Given the description of an element on the screen output the (x, y) to click on. 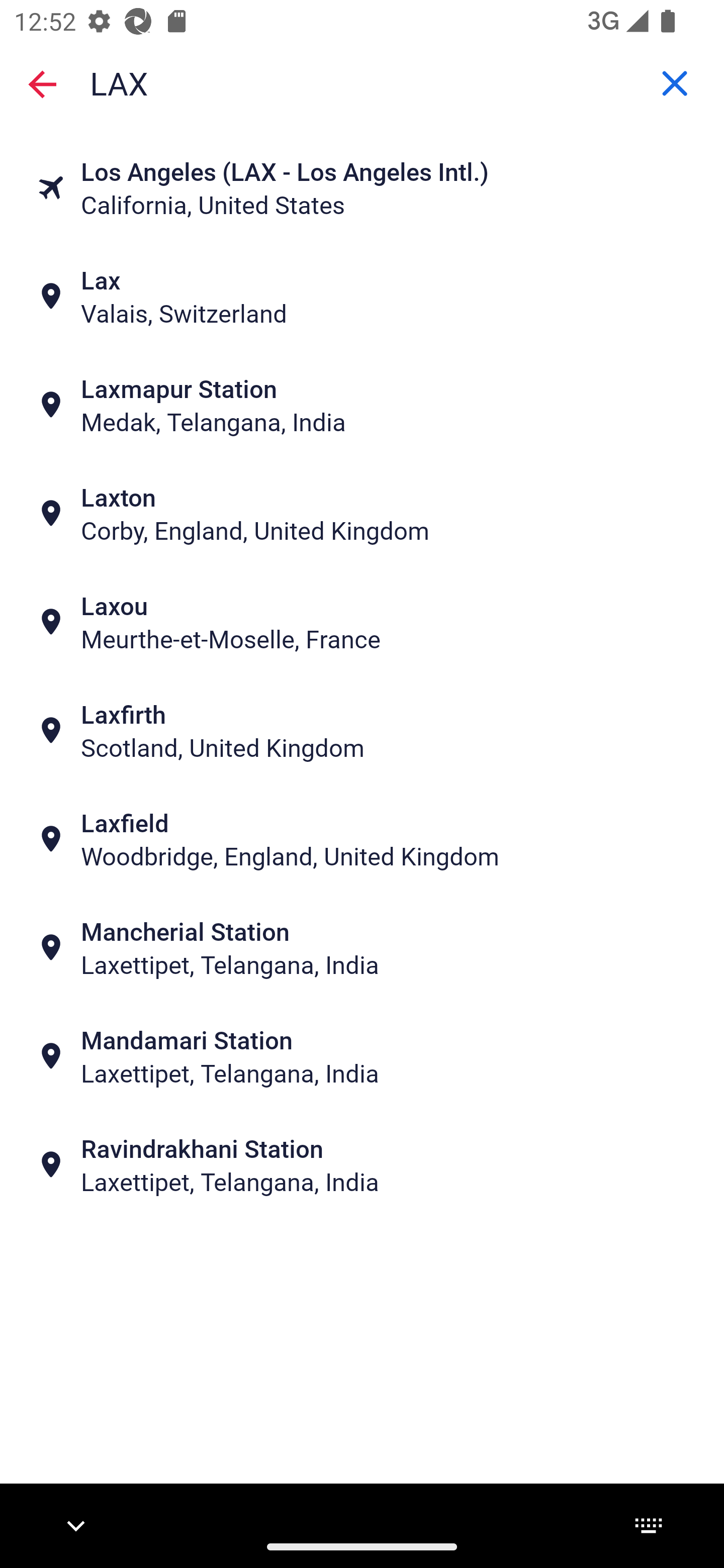
Close search screen (42, 84)
Clear Pick-up (674, 82)
Pick-up, LAX (361, 82)
Close search screen (41, 83)
